Given the description of an element on the screen output the (x, y) to click on. 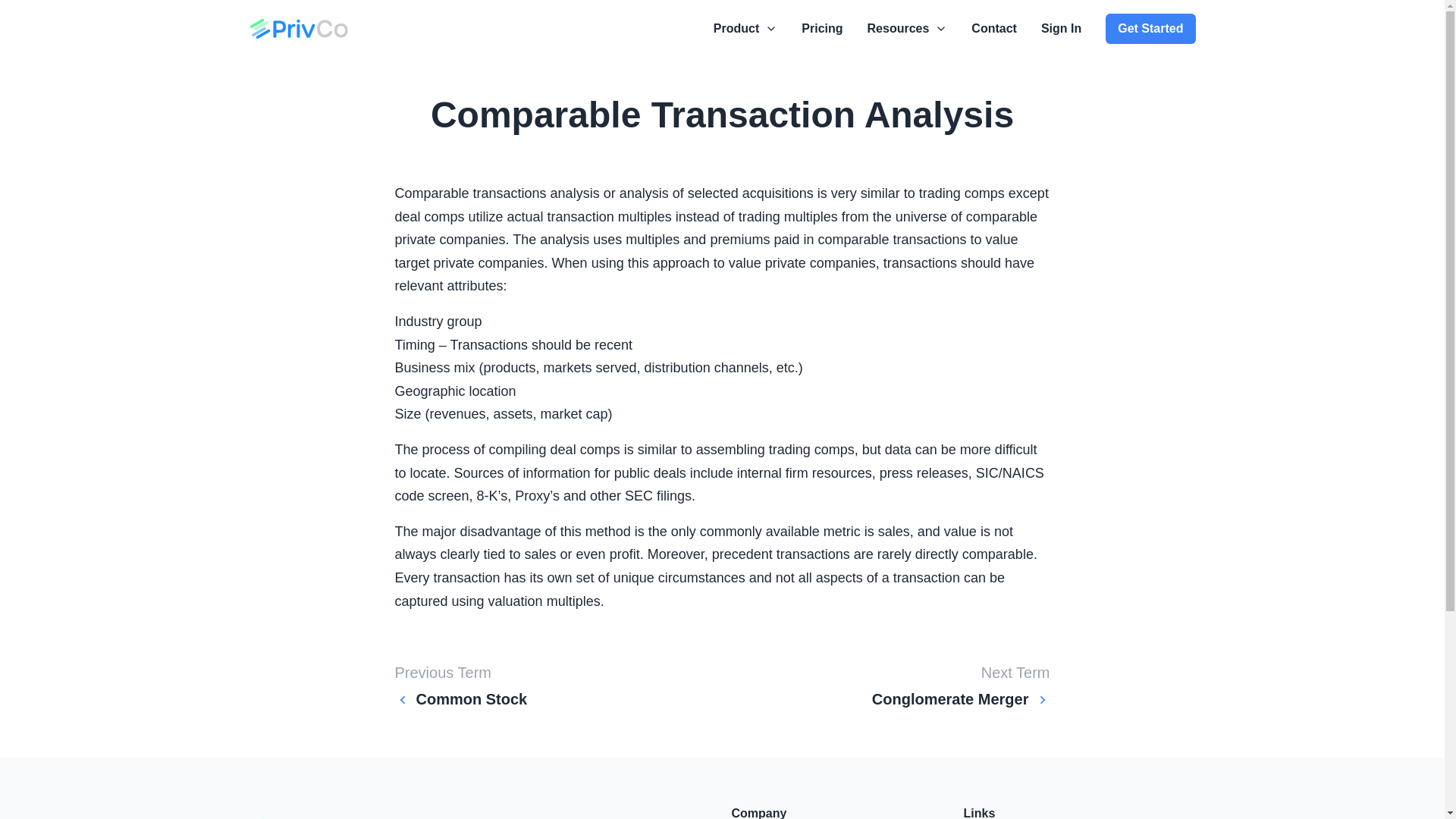
Contact (993, 28)
Sign In (1061, 28)
Pricing (822, 28)
Conglomerate Merger (960, 699)
Common Stock (460, 699)
Get Started (1150, 28)
